Given the description of an element on the screen output the (x, y) to click on. 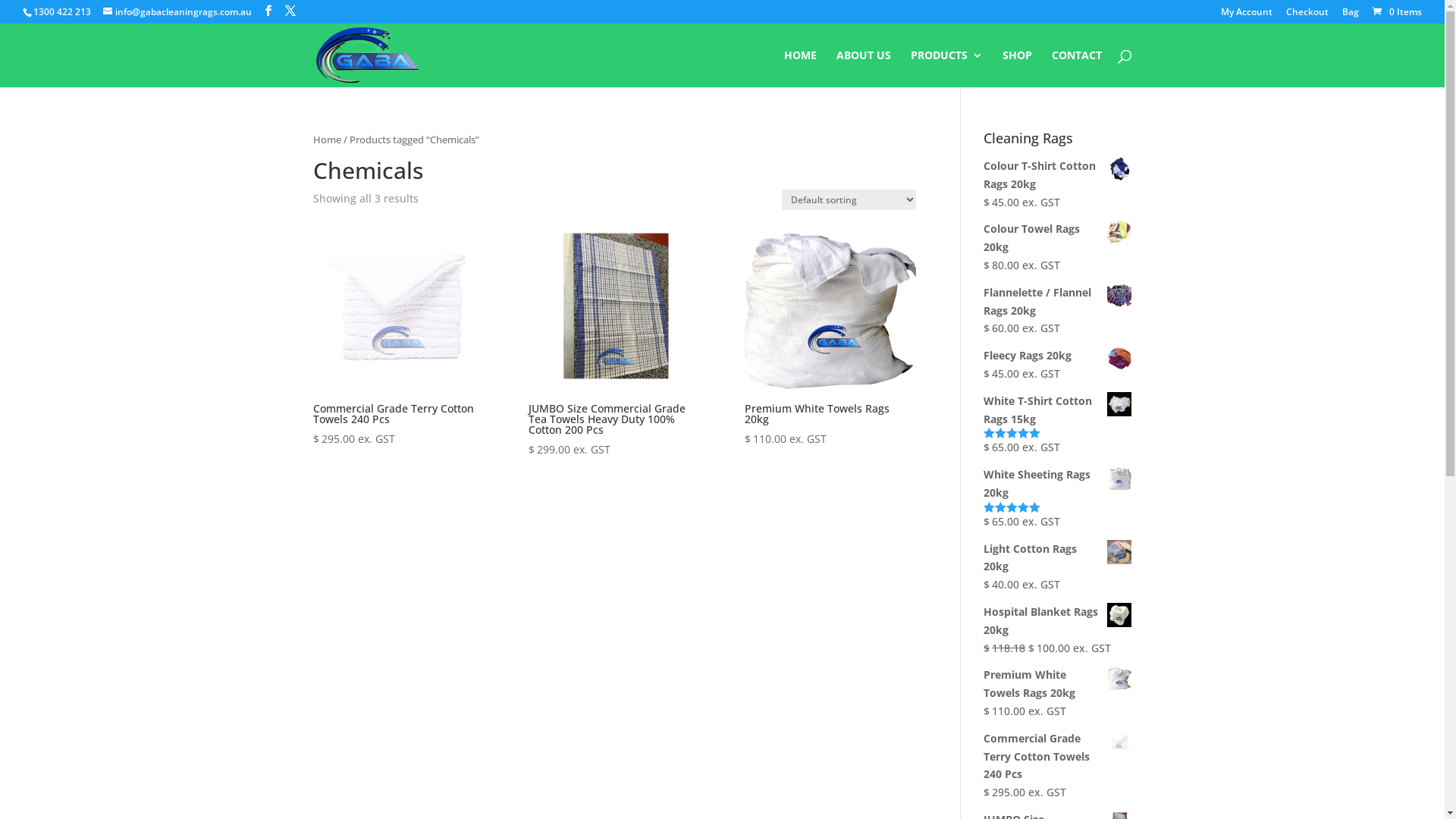
Flannelette / Flannel Rags 20kg Element type: text (1057, 301)
Colour Towel Rags 20kg Element type: text (1057, 237)
Colour T-Shirt Cotton Rags 20kg Element type: text (1057, 174)
Checkout Element type: text (1307, 15)
0 Items Element type: text (1395, 11)
Light Cotton Rags 20kg Element type: text (1057, 557)
Bag Element type: text (1350, 15)
ABOUT US Element type: text (862, 68)
White T-Shirt Cotton Rags 15kg Element type: text (1057, 410)
info@gabacleaningrags.com.au Element type: text (177, 11)
HOME Element type: text (800, 68)
Fleecy Rags 20kg Element type: text (1057, 355)
Hospital Blanket Rags 20kg Element type: text (1057, 620)
White Sheeting Rags 20kg Element type: text (1057, 483)
Commercial Grade Terry Cotton Towels 240 Pcs Element type: text (1057, 756)
Premium White Towels Rags 20kg
$110.00 ex. GST Element type: text (829, 334)
CONTACT Element type: text (1076, 68)
Premium White Towels Rags 20kg Element type: text (1057, 683)
SHOP Element type: text (1017, 68)
Home Element type: text (326, 139)
PRODUCTS Element type: text (946, 68)
My Account Element type: text (1246, 15)
Commercial Grade Terry Cotton Towels 240 Pcs
$295.00 ex. GST Element type: text (397, 334)
